Given the description of an element on the screen output the (x, y) to click on. 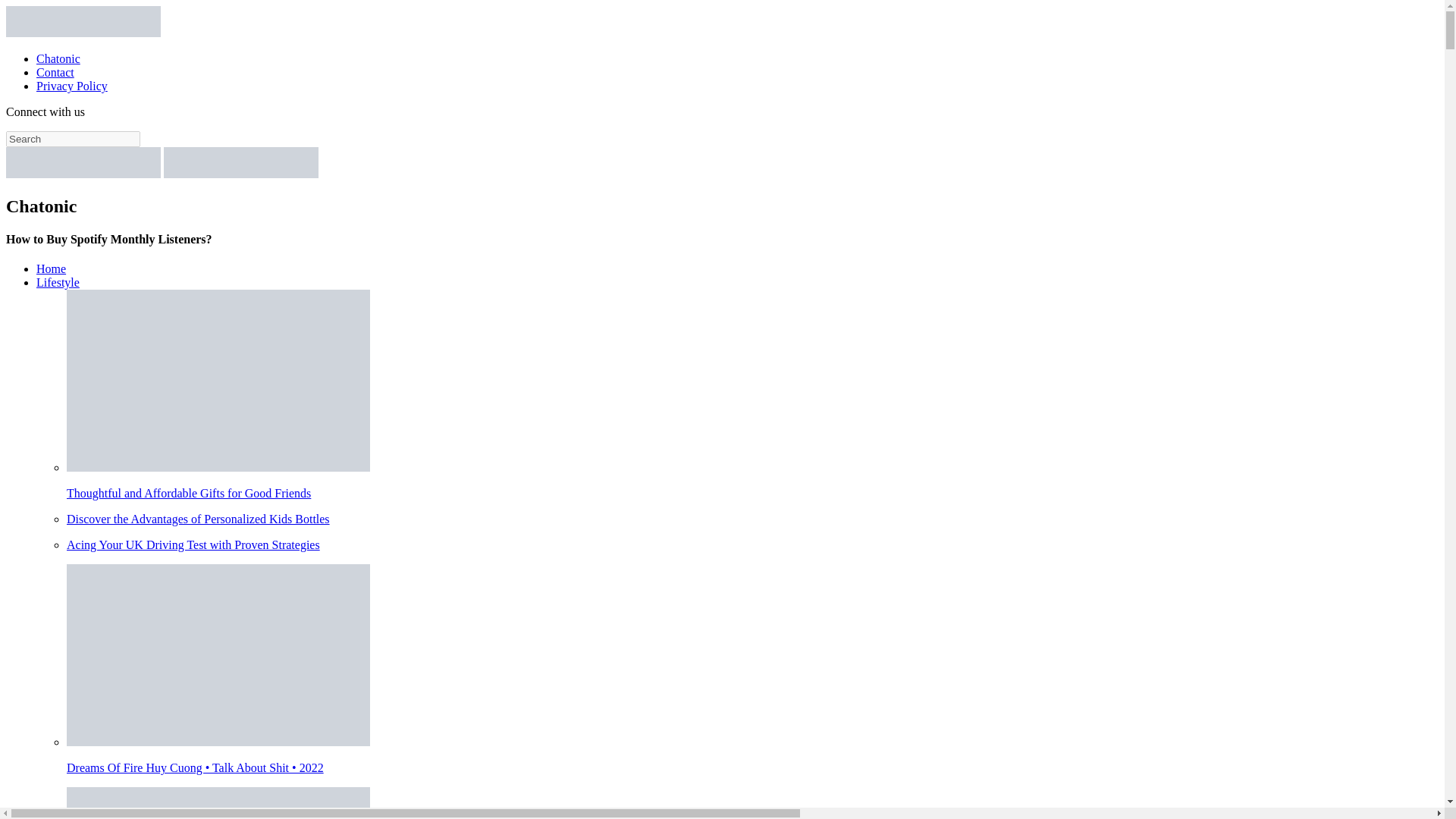
Lifestyle (58, 282)
Thoughtful and Affordable Gifts for Good Friends 1 (217, 380)
Chatonic (58, 58)
46.285.653 ltda lauro de freitas (752, 803)
Home (50, 268)
Search (72, 139)
Privacy Policy (71, 85)
